Given the description of an element on the screen output the (x, y) to click on. 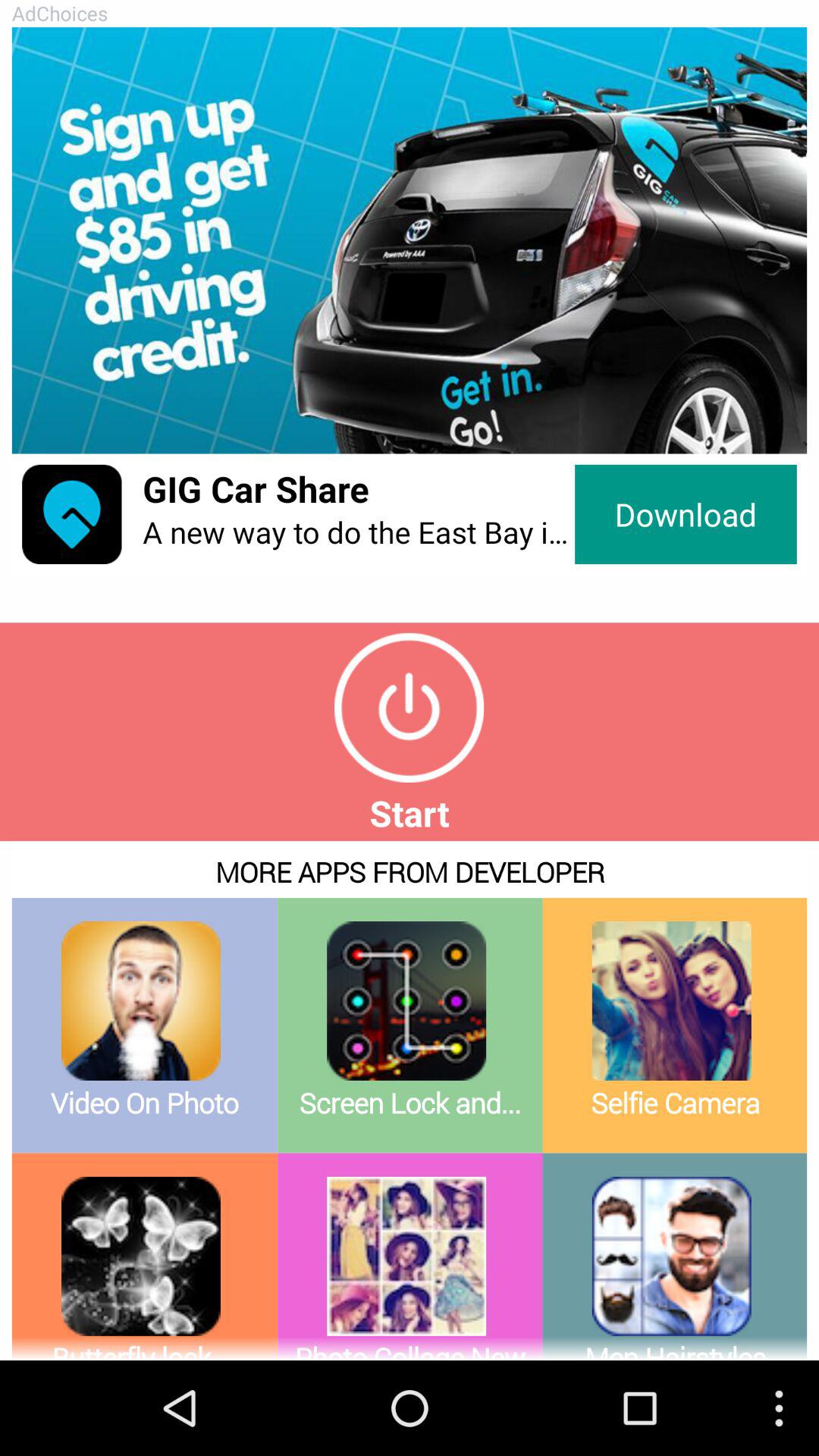
click to view more applications (409, 1100)
